Given the description of an element on the screen output the (x, y) to click on. 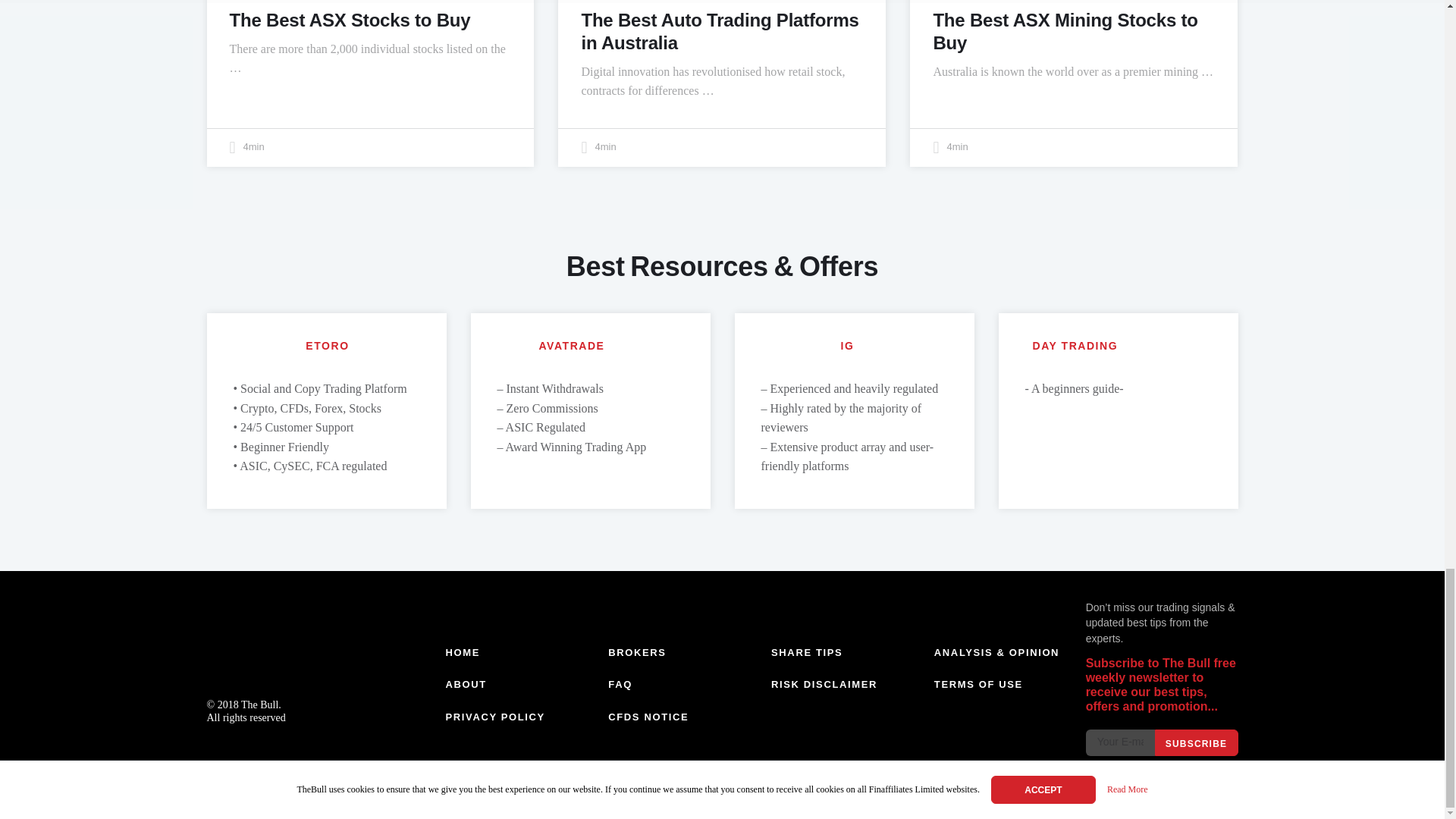
The Best ASX Stocks to Buy (349, 19)
The Best Auto Trading Platforms in Australia (719, 31)
Subscribe (1195, 742)
